Given the description of an element on the screen output the (x, y) to click on. 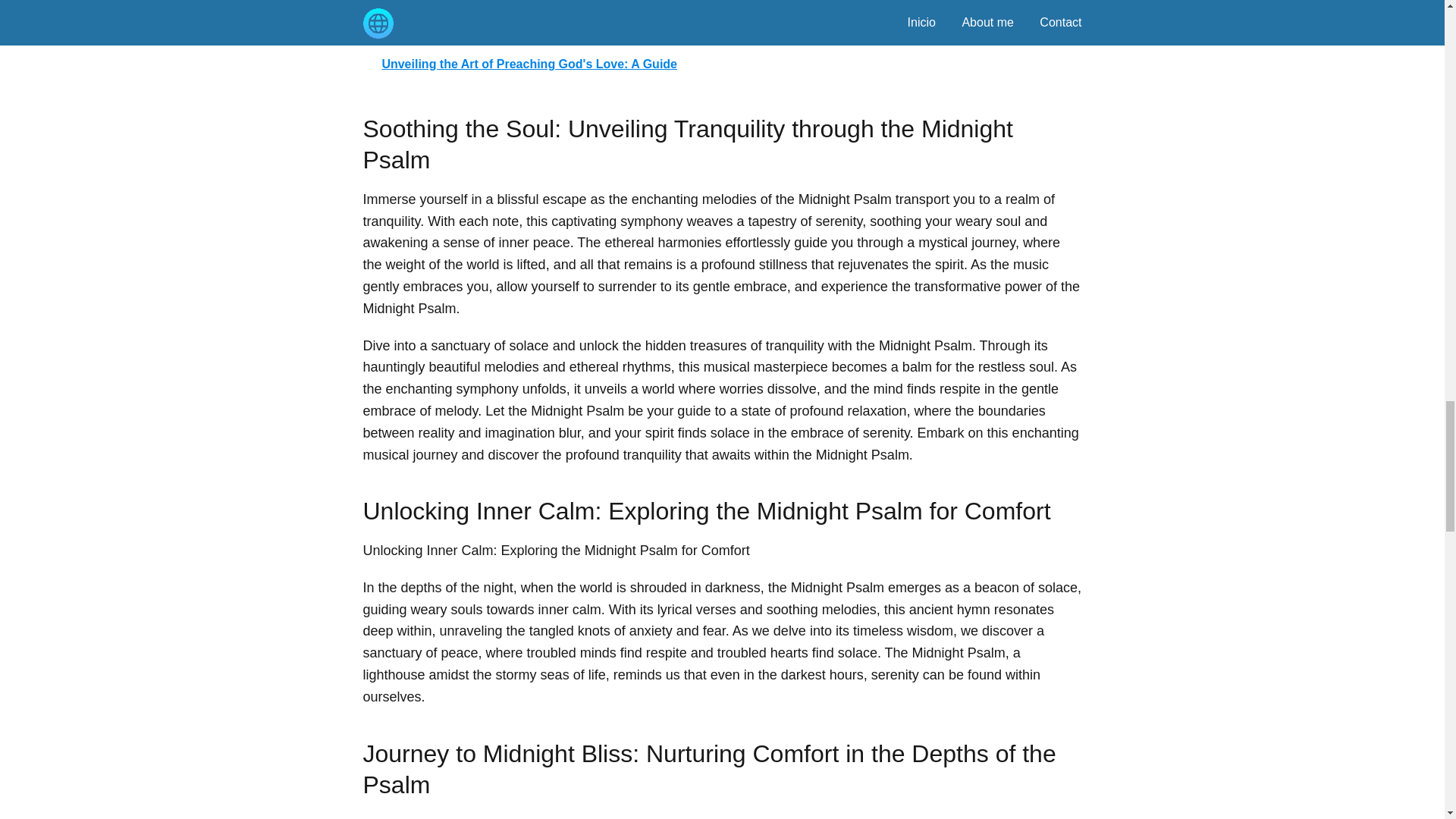
  Unveiling the Art of Preaching God's Love: A Guide (721, 64)
